Given the description of an element on the screen output the (x, y) to click on. 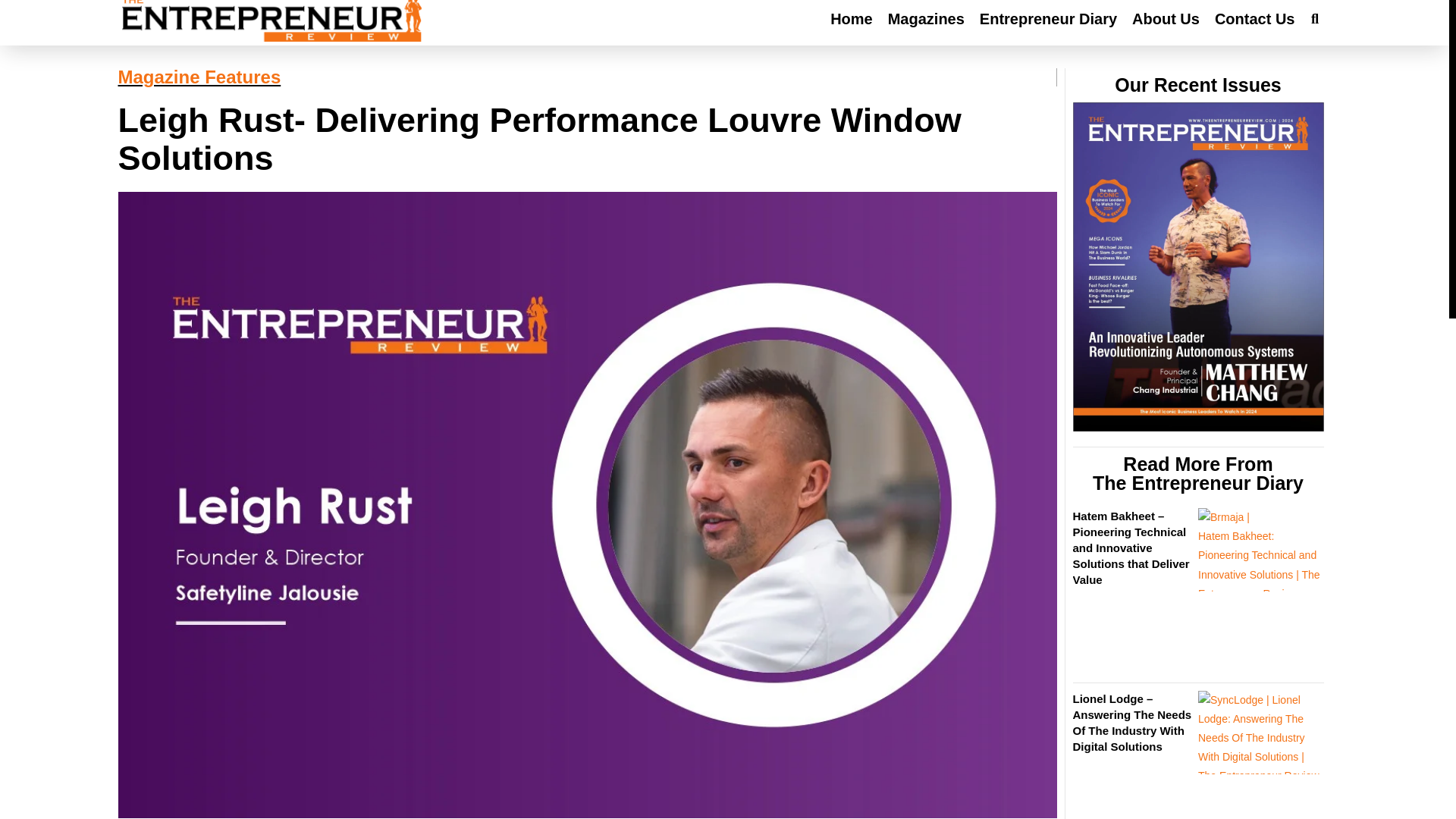
Home (850, 18)
About Us (1165, 18)
Magazines (925, 18)
Magazine Features (199, 76)
Contact Us (1254, 18)
Entrepreneur Diary (1047, 18)
